Given the description of an element on the screen output the (x, y) to click on. 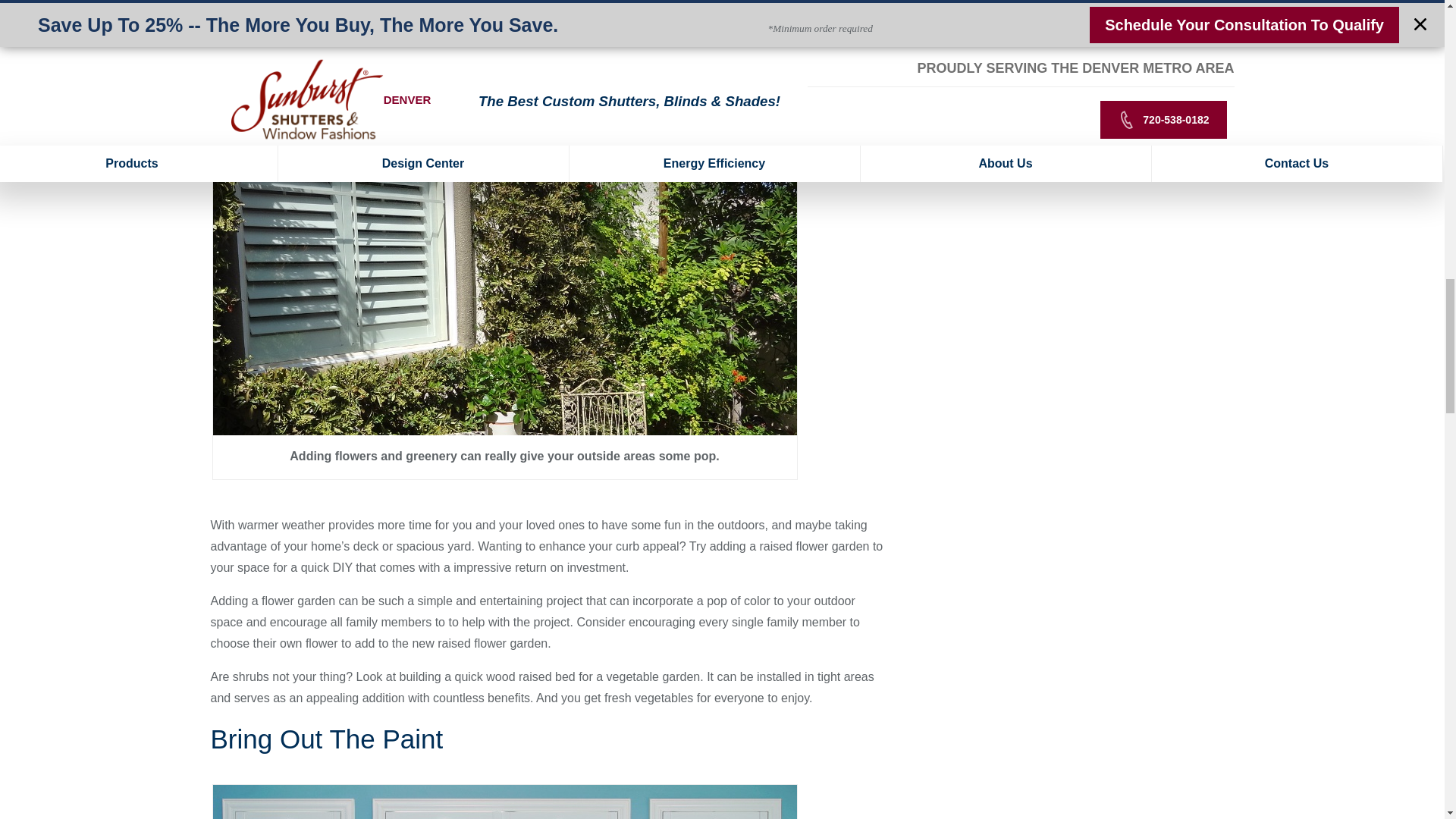
Adding color to a room is a great family project. (504, 801)
